Given the description of an element on the screen output the (x, y) to click on. 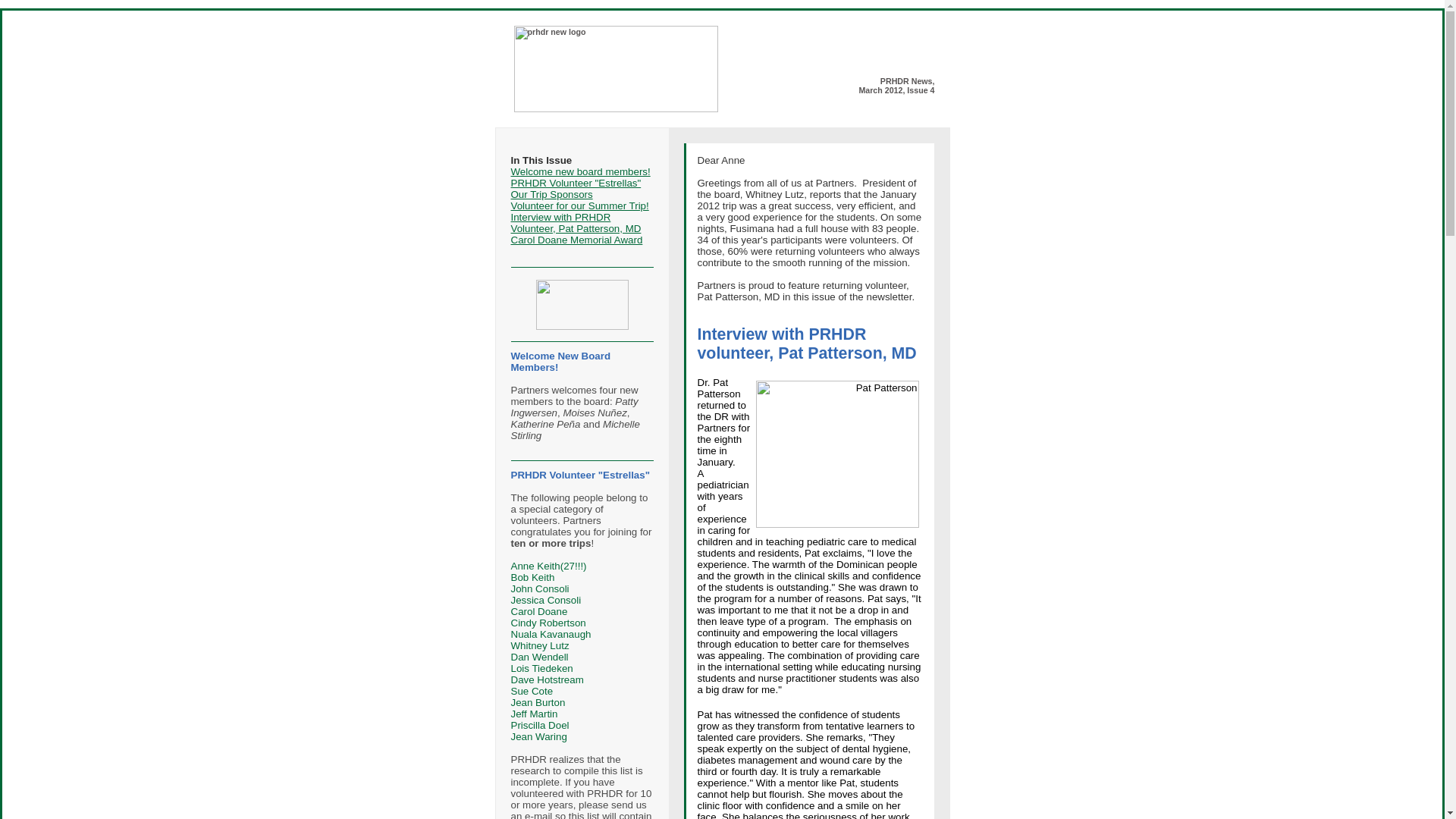
Carol Doane Memorial Award (577, 239)
Interview with PRHDR Volunteer, Pat Patterson, MD (576, 222)
PRHDR Volunteer "Estrellas" (576, 183)
Our Trip Sponsors (551, 194)
Welcome new board members! (580, 171)
Volunteer for our Summer Trip! (580, 205)
